Given the description of an element on the screen output the (x, y) to click on. 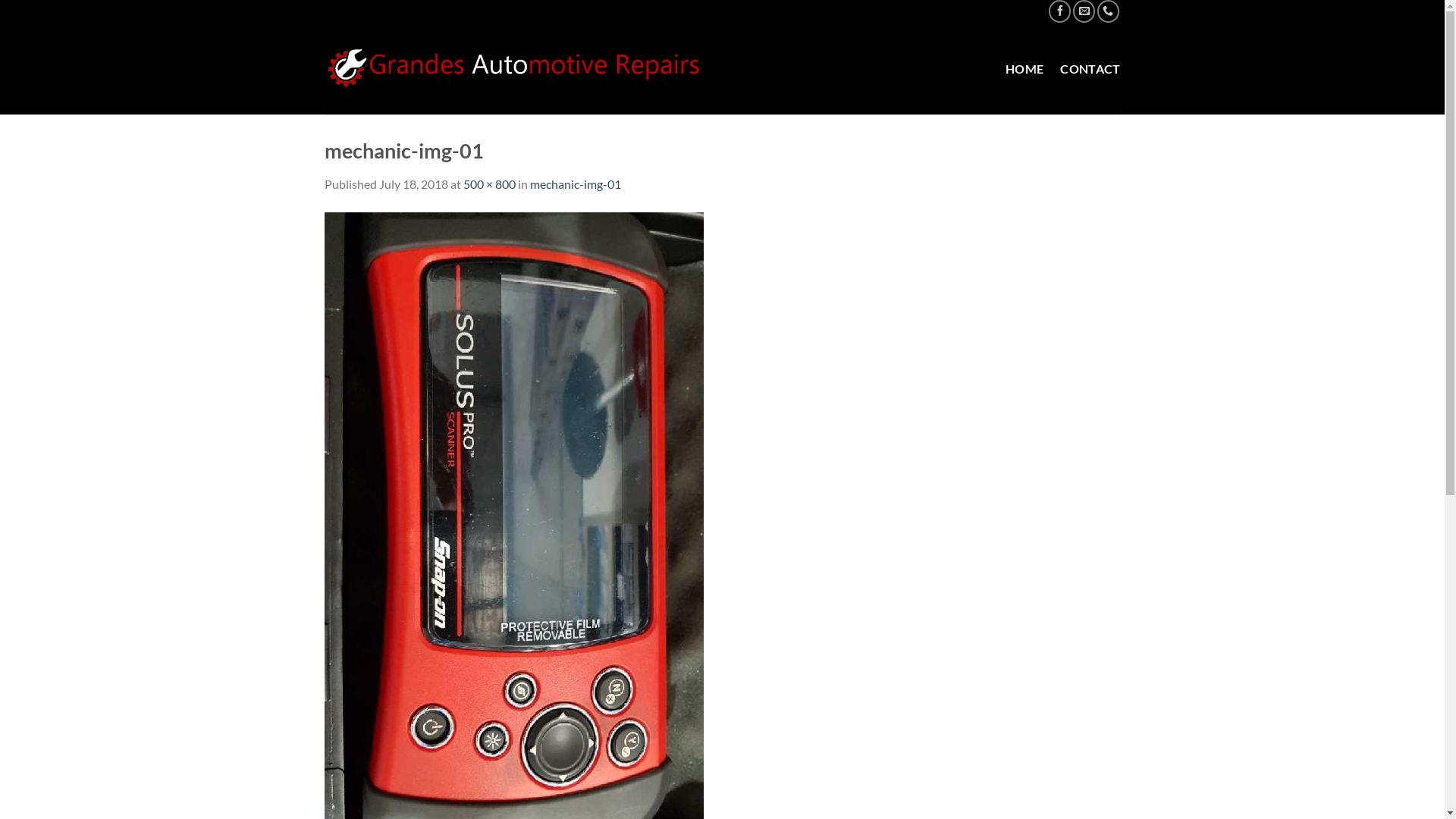
Send us an email Element type: hover (1084, 10)
Call us Element type: hover (1108, 10)
CONTACT Element type: text (1090, 68)
Follow on Facebook Element type: hover (1059, 10)
Grande's Automotive - Mechanic Workshop Glenroy Element type: hover (514, 67)
HOME Element type: text (1024, 68)
mechanic-img-01 Element type: text (574, 183)
mechanic-img-01 Element type: hover (513, 513)
